Given the description of an element on the screen output the (x, y) to click on. 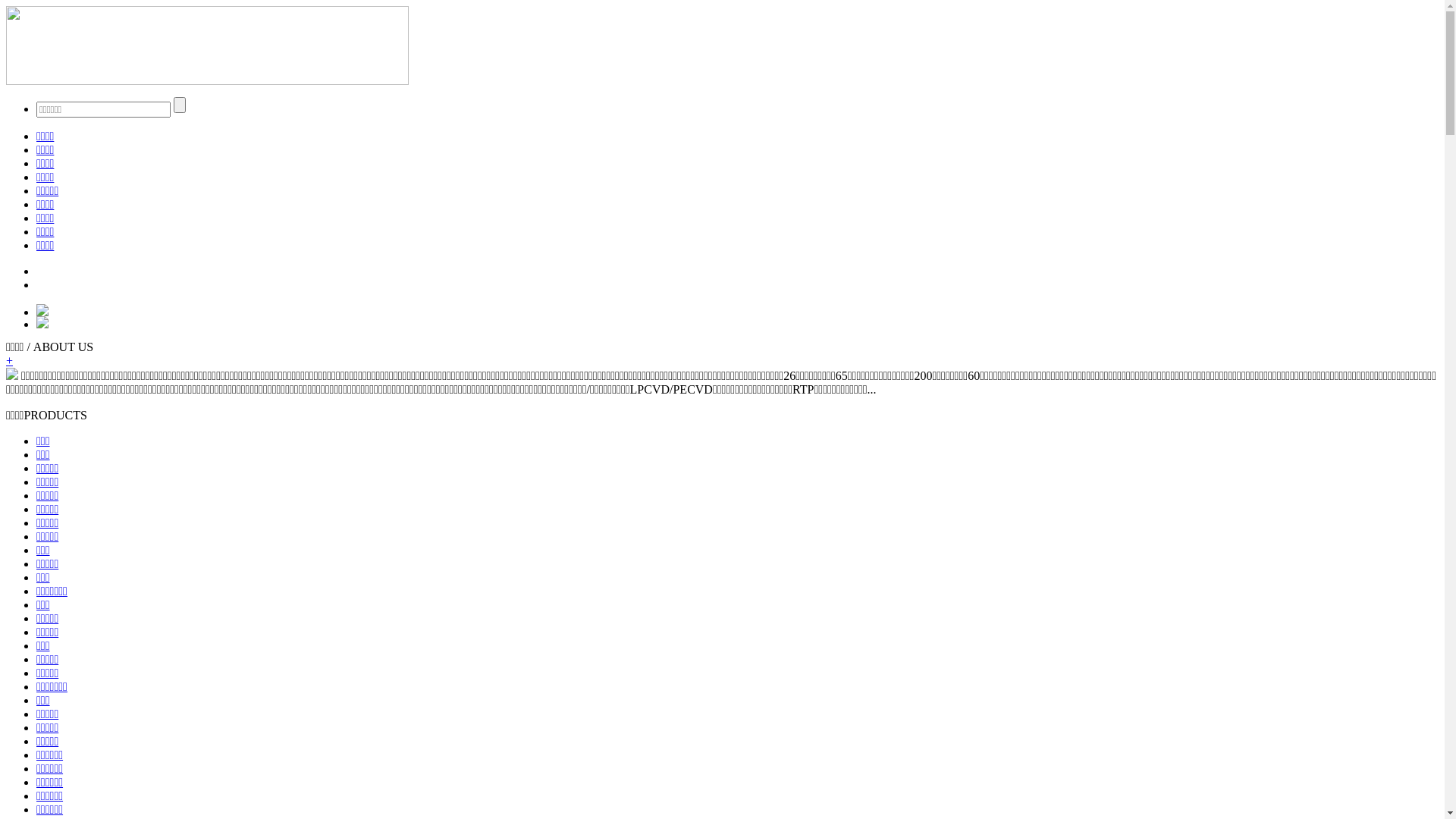
+ Element type: text (9, 360)
